Given the description of an element on the screen output the (x, y) to click on. 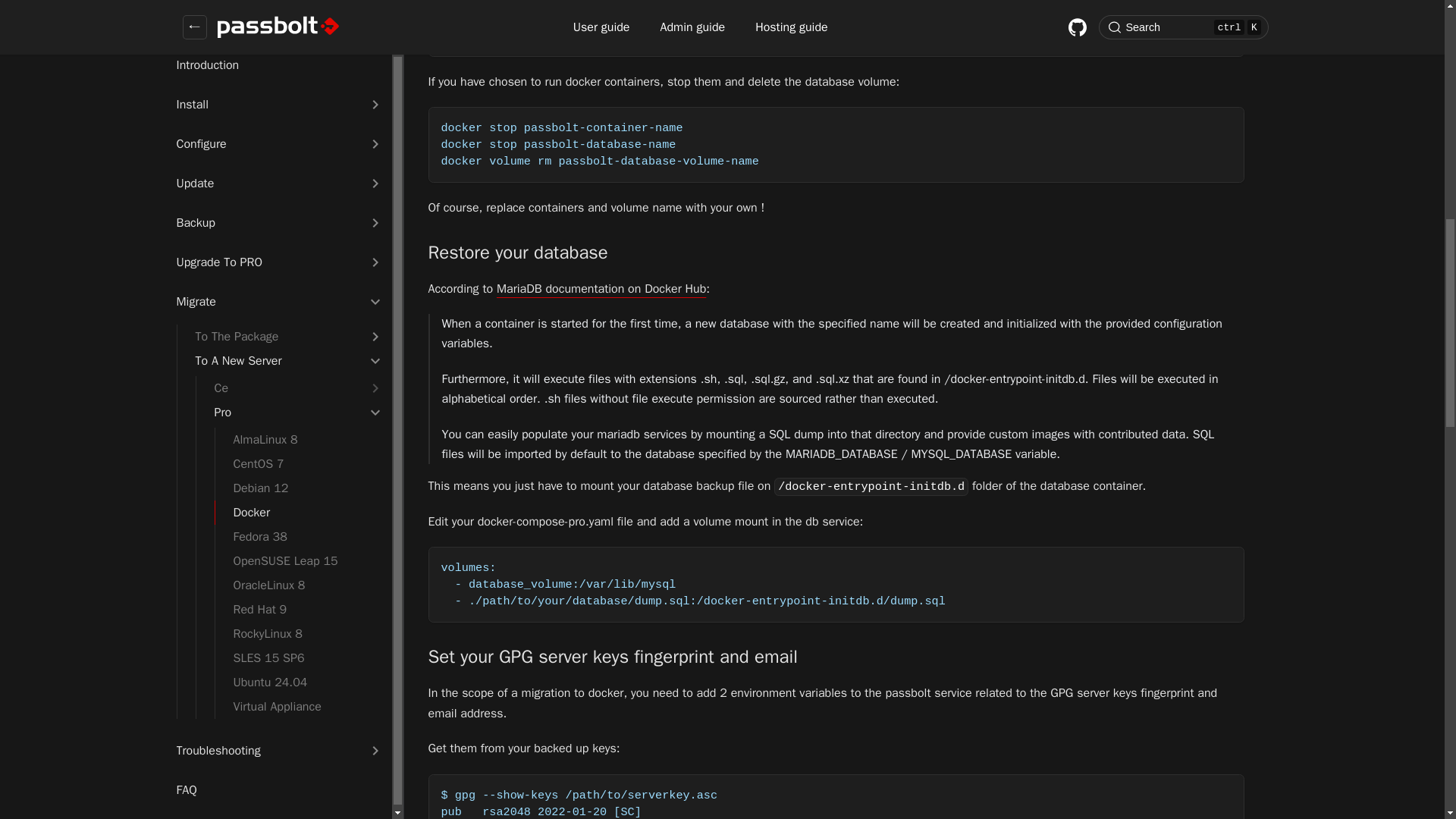
docker compose -f docker-compose-pro.yaml down -v (836, 35)
